Given the description of an element on the screen output the (x, y) to click on. 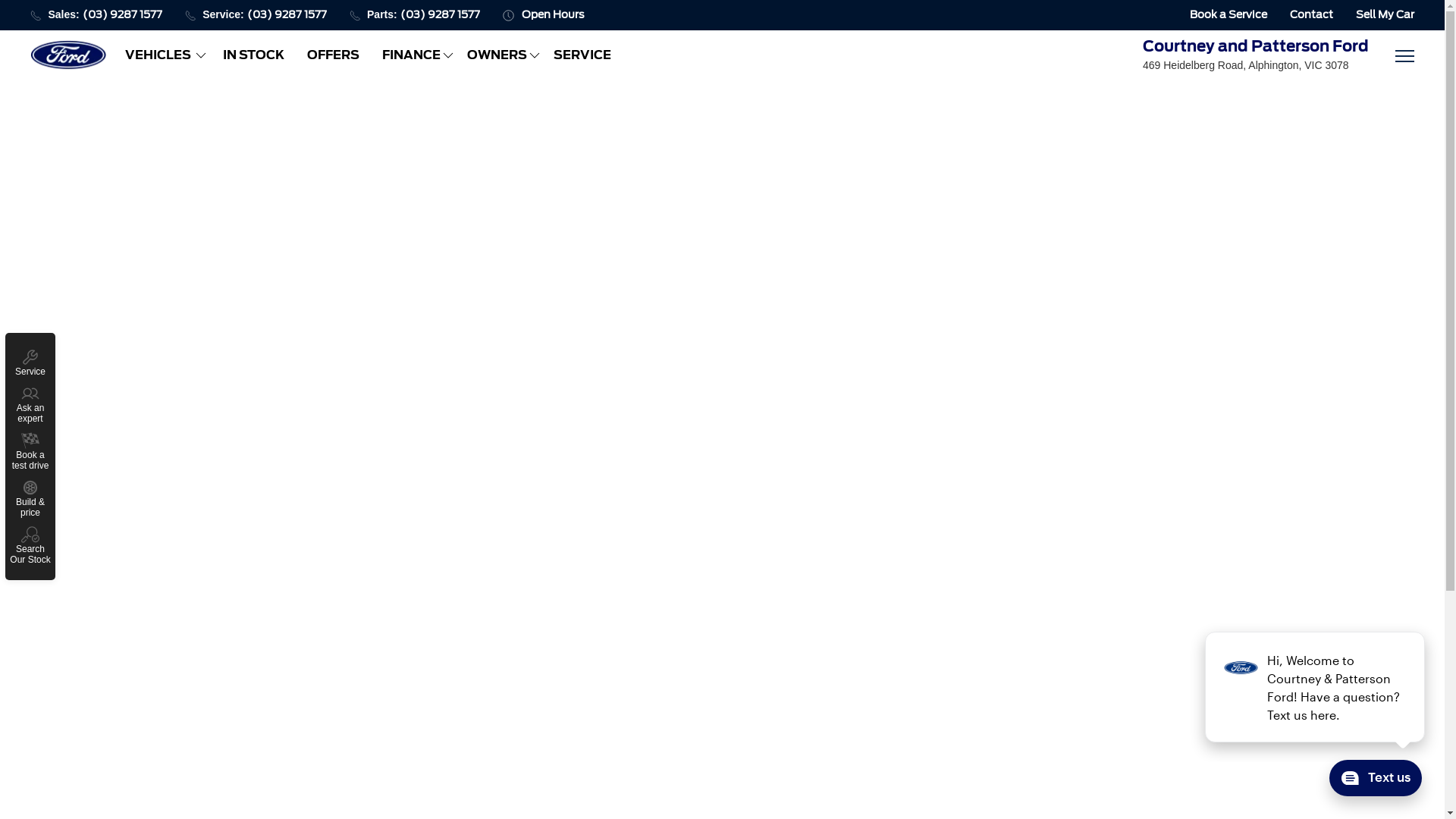
Book a test drive Element type: text (30, 450)
OFFERS Element type: text (332, 54)
Service: (03) 9287 1577 Element type: text (255, 15)
podium webchat widget prompt Element type: hover (1315, 686)
SERVICE Element type: text (581, 54)
Book a Service Element type: text (1228, 15)
FINANCE Element type: text (412, 54)
IN STOCK Element type: text (252, 54)
Sell My Car Element type: text (1384, 15)
Sales: (03) 9287 1577 Element type: text (95, 15)
Search Our Stock Element type: text (30, 544)
Contact Element type: text (1311, 15)
Ask an expert Element type: text (30, 403)
VEHICLES
VEHICLES Element type: text (162, 54)
OWNERS Element type: text (498, 54)
Build & price Element type: text (30, 497)
Open Hours Element type: text (543, 15)
Menu Element type: hover (1402, 54)
Parts: (03) 9287 1577 Element type: text (414, 15)
Service Element type: text (30, 362)
